Given the description of an element on the screen output the (x, y) to click on. 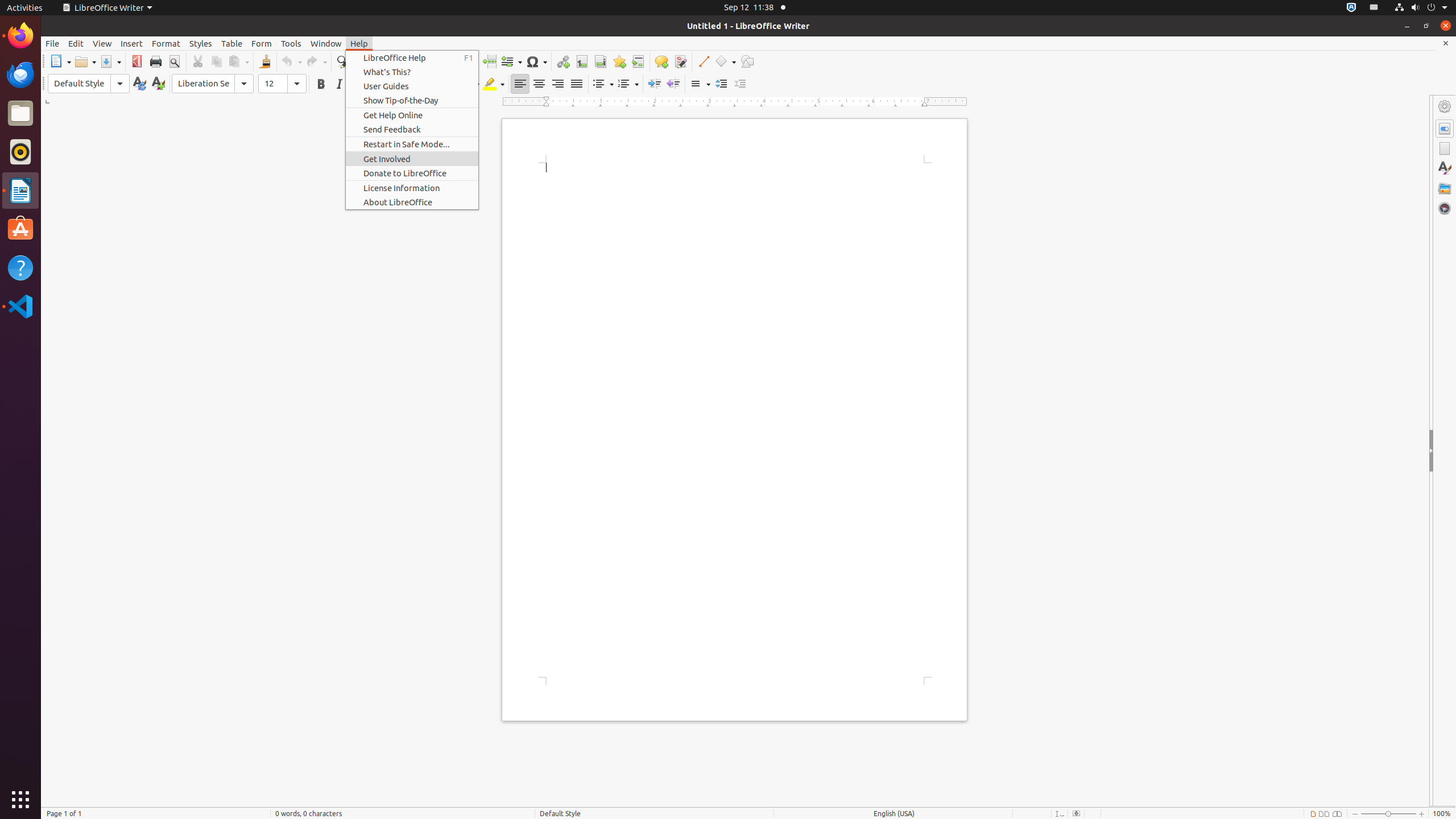
Increase Element type: push-button (721, 83)
Right Element type: toggle-button (557, 83)
org.kde.StatusNotifierItem-14077-1 Element type: menu (1373, 7)
Numbering Element type: push-button (627, 83)
Get Help Online Element type: menu-item (411, 115)
